Given the description of an element on the screen output the (x, y) to click on. 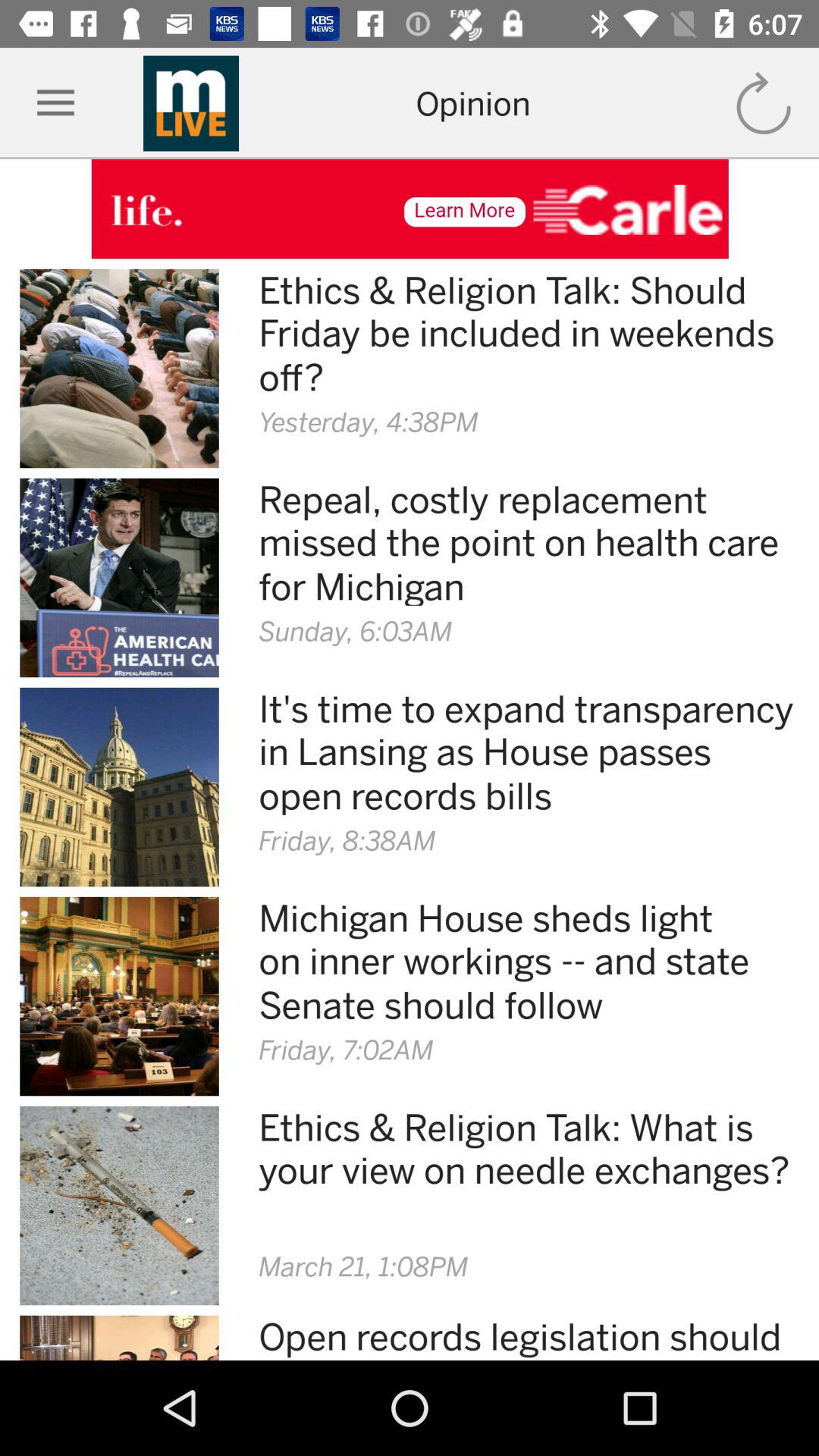
click for dropdown box (55, 103)
